Given the description of an element on the screen output the (x, y) to click on. 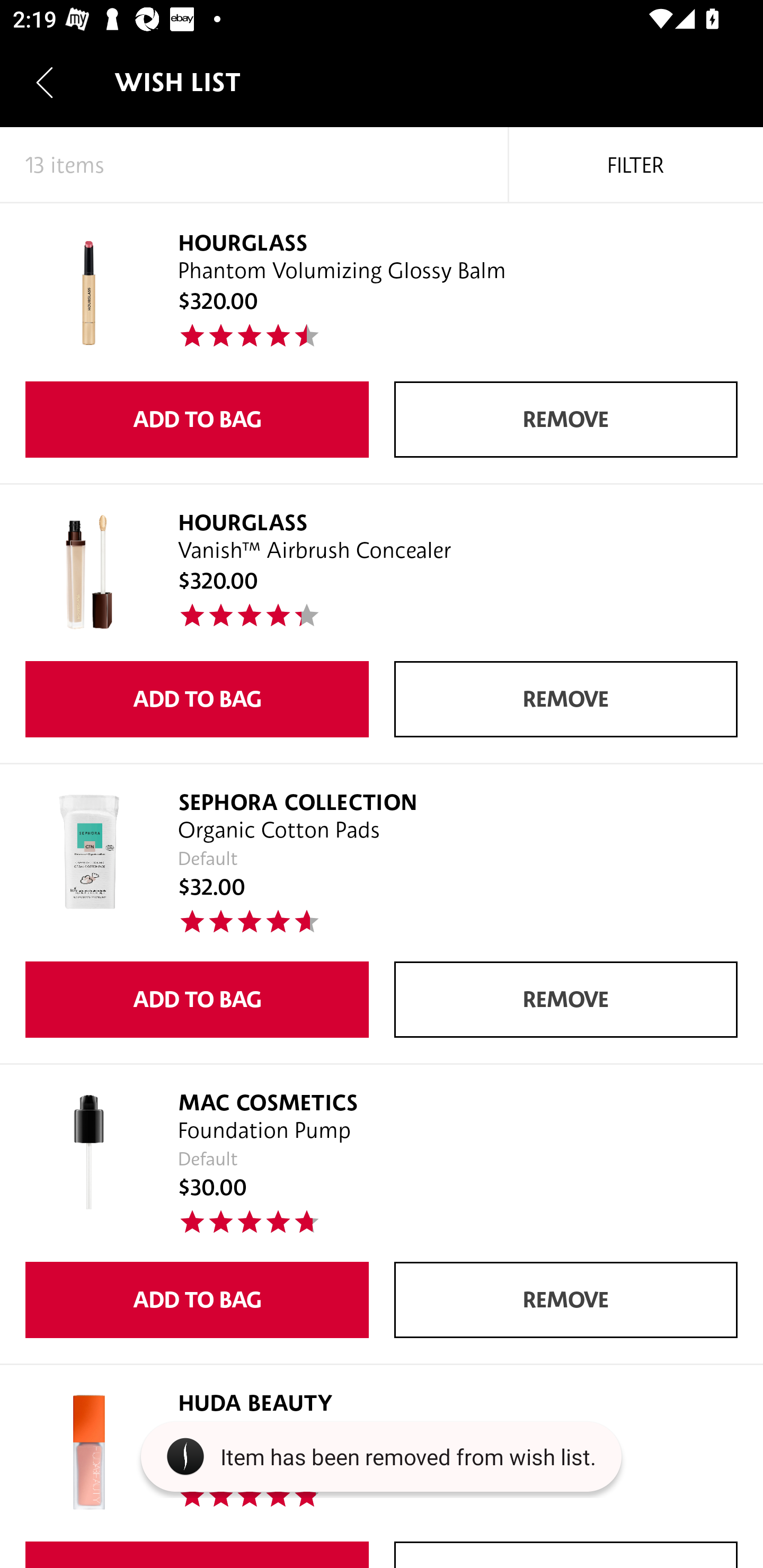
Navigate up (44, 82)
FILTER (635, 165)
ADD TO BAG (196, 419)
REMOVE (565, 419)
ADD TO BAG (196, 698)
REMOVE (565, 698)
ADD TO BAG (196, 999)
REMOVE (565, 999)
ADD TO BAG (196, 1299)
REMOVE (565, 1299)
